Given the description of an element on the screen output the (x, y) to click on. 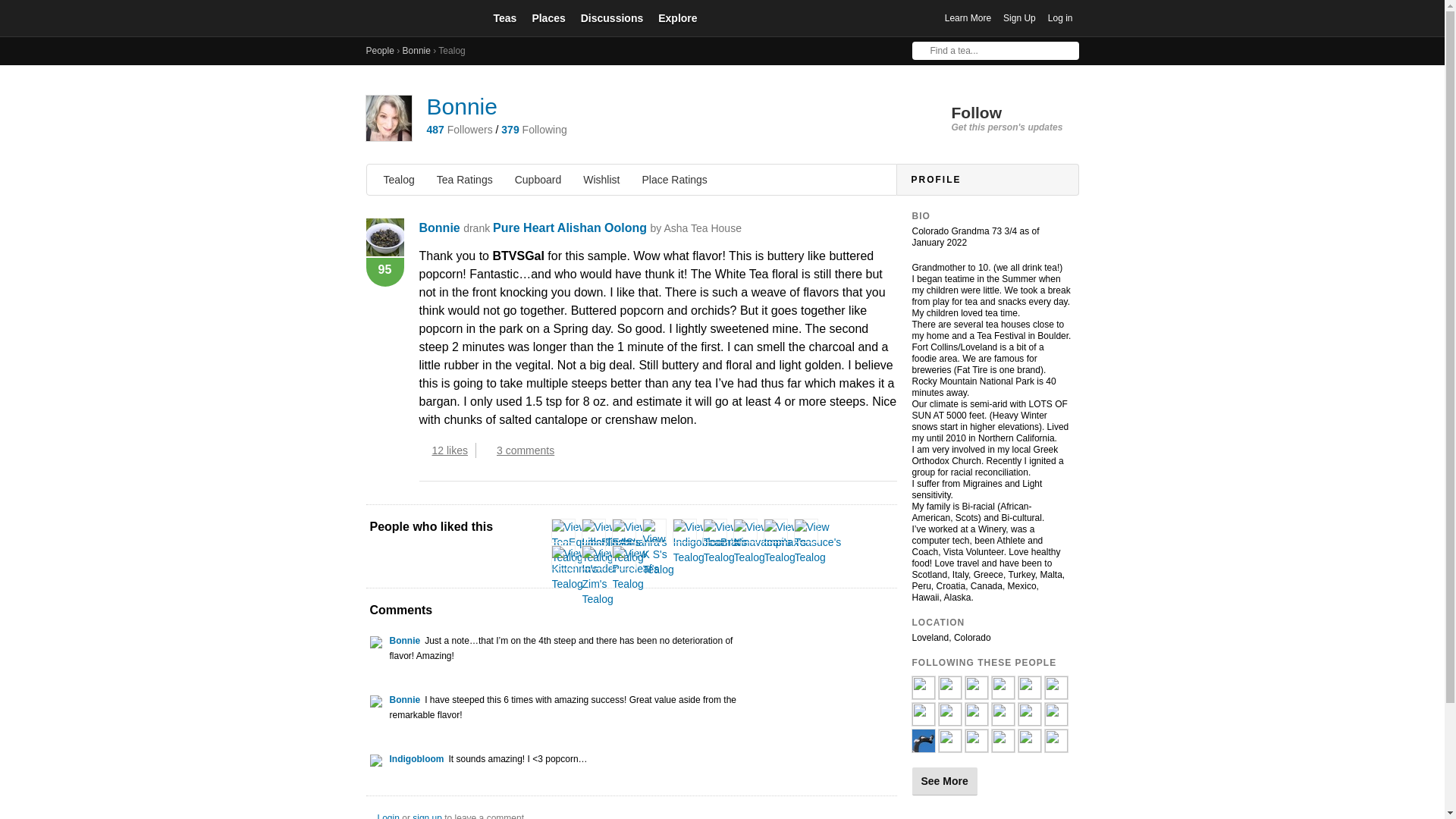
487 Followers (459, 129)
Steepster (418, 18)
View Ninavampi's Tealog (762, 542)
Sign Up (1019, 18)
Teas (504, 17)
View Indigobloom's Tealog (705, 542)
Tea Ratings (465, 179)
View teamax's Tealog (785, 542)
View ashmanra's Tealog (639, 542)
I Like This (423, 450)
